Given the description of an element on the screen output the (x, y) to click on. 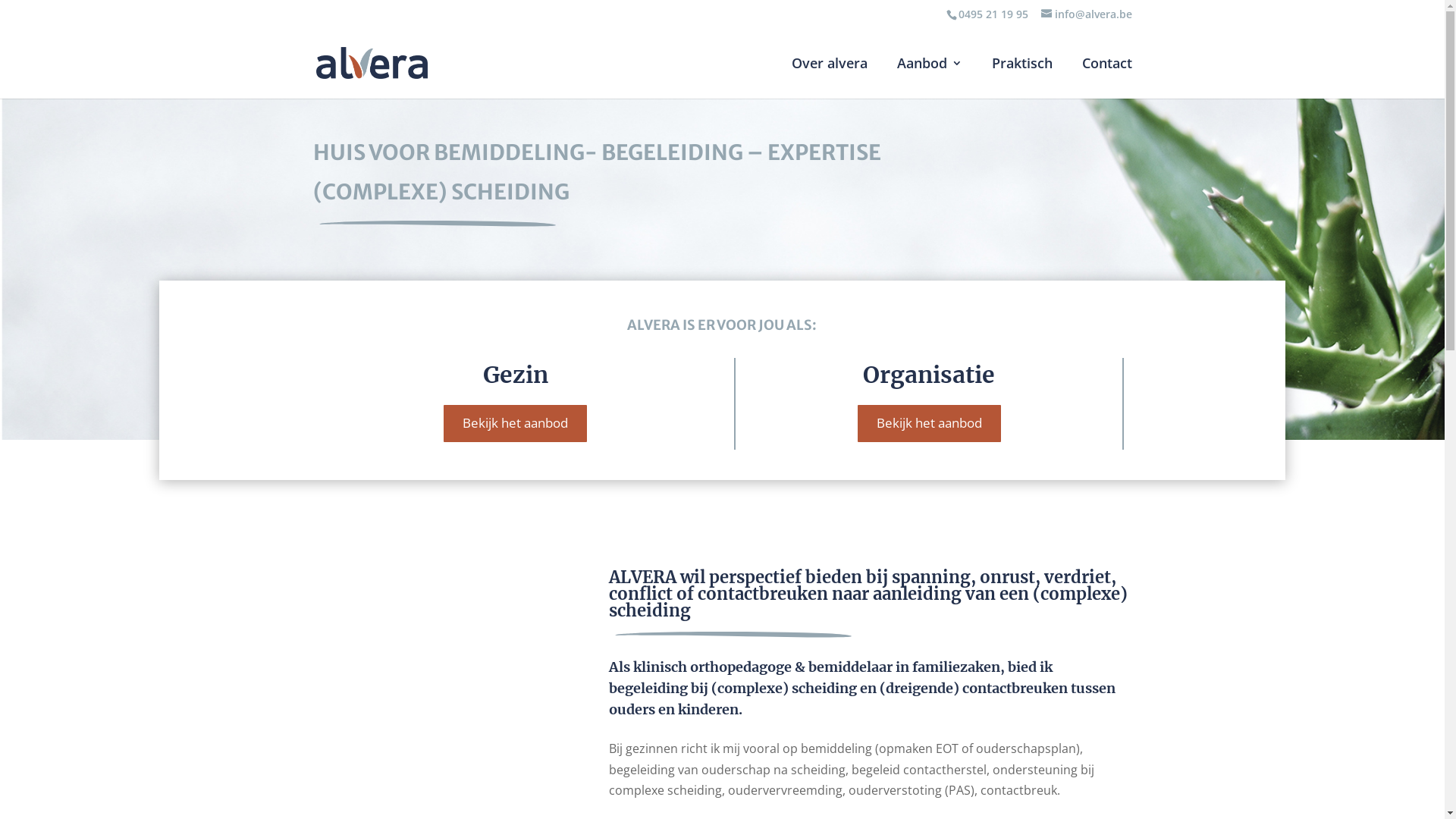
Aanbod Element type: text (928, 77)
Contact Element type: text (1106, 77)
Over alvera Element type: text (829, 77)
Bekijk het aanbod Element type: text (515, 423)
Praktisch Element type: text (1021, 77)
info@alvera.be Element type: text (1085, 13)
Bekijk het aanbod Element type: text (929, 423)
